Given the description of an element on the screen output the (x, y) to click on. 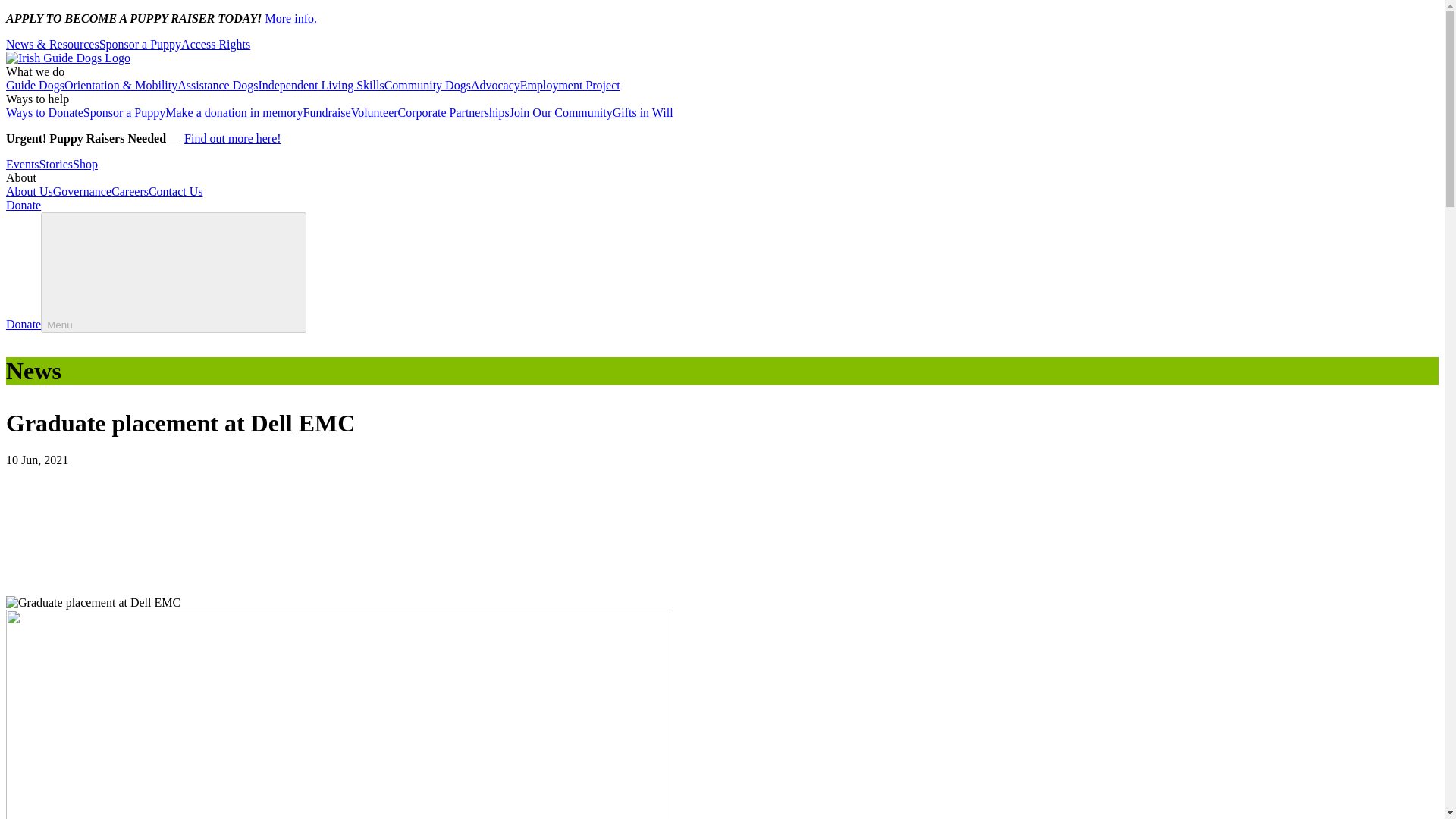
Governance (82, 191)
Find out more here! (232, 137)
Shop (84, 164)
Gifts in Will (642, 112)
Ways to Donate (43, 112)
Employment Project (569, 84)
Guide Dogs (34, 84)
Join Our Community (560, 112)
Make a donation in memory (233, 112)
Sponsor a Puppy (139, 43)
Sponsor a Puppy (123, 112)
Events (22, 164)
Community Dogs (427, 84)
Menu (172, 272)
Fundraise (326, 112)
